Given the description of an element on the screen output the (x, y) to click on. 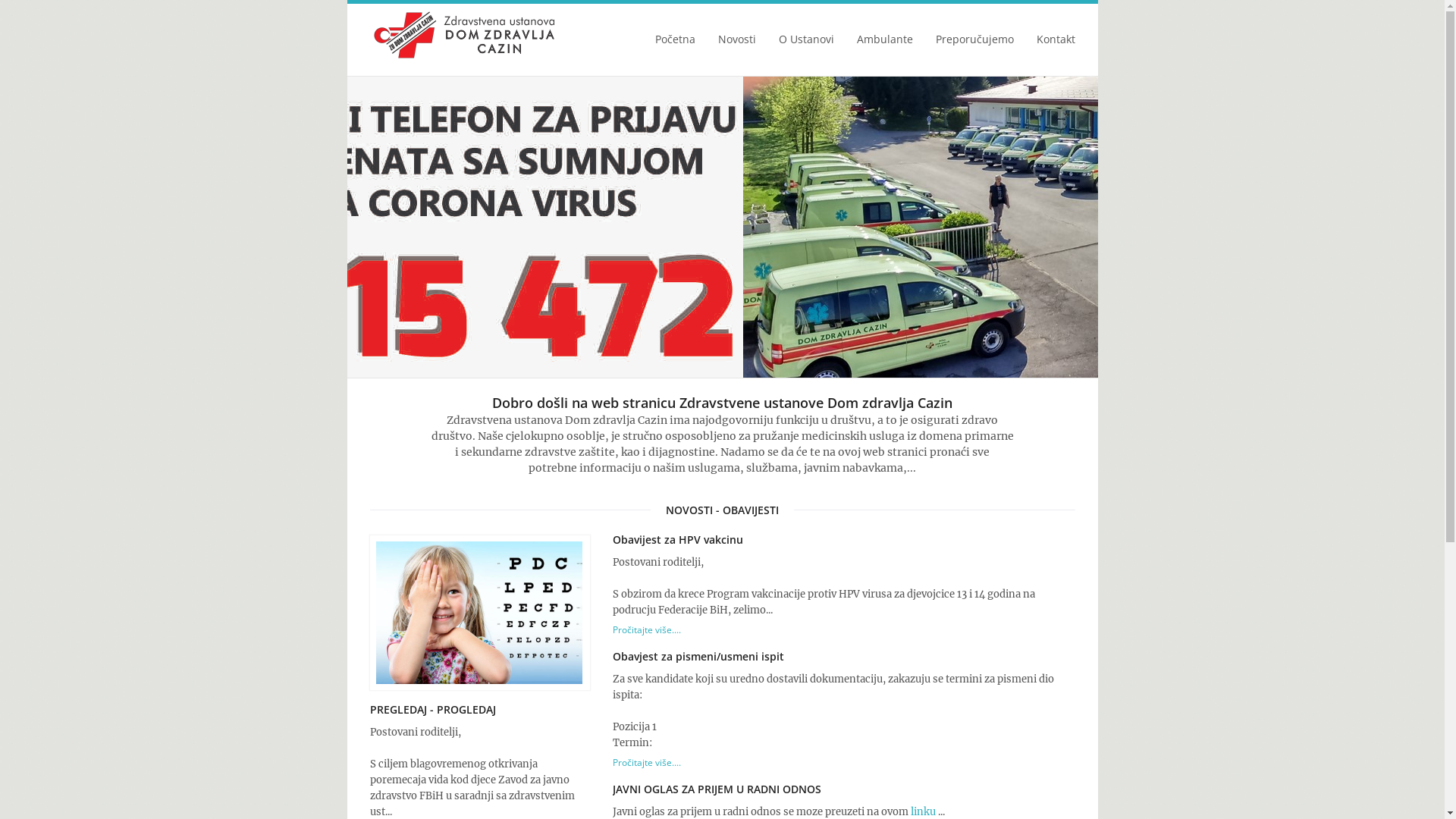
Kontakt Element type: text (1054, 43)
Ambulante Element type: text (884, 43)
linku Element type: text (922, 811)
Novosti Element type: text (736, 43)
ZU Dom zdravlja Cazin Element type: text (465, 34)
